Given the description of an element on the screen output the (x, y) to click on. 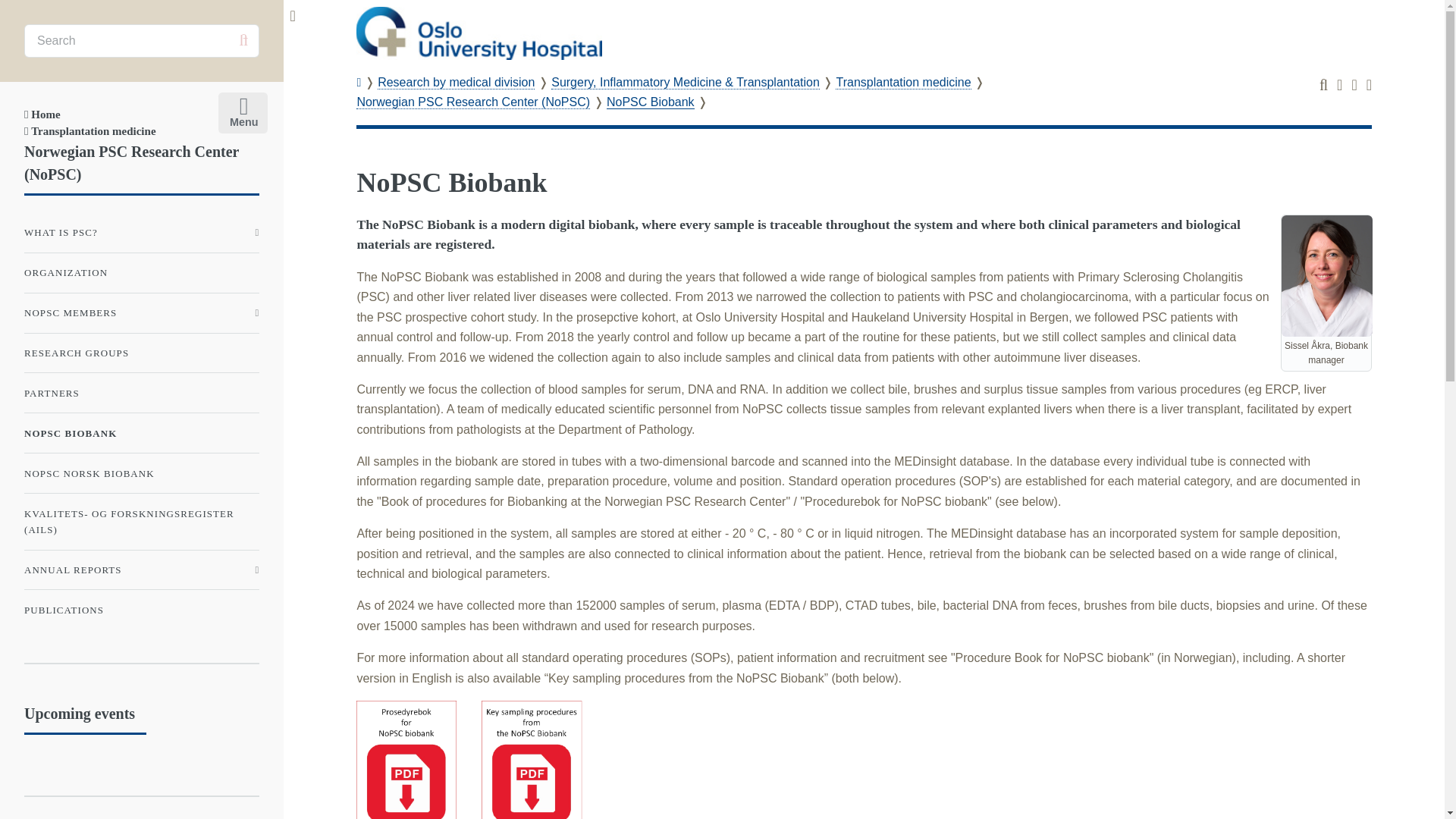
NoPSC Biobank (650, 101)
Search (243, 40)
Research by medical division (455, 82)
PUBLICATIONS (141, 610)
WHAT IS PSC? (141, 232)
Transplantation medicine (89, 131)
OUH - NoPSC Biobank (479, 33)
Home (42, 114)
NOPSC NORSK BIOBANK (141, 472)
Menu (240, 108)
